Given the description of an element on the screen output the (x, y) to click on. 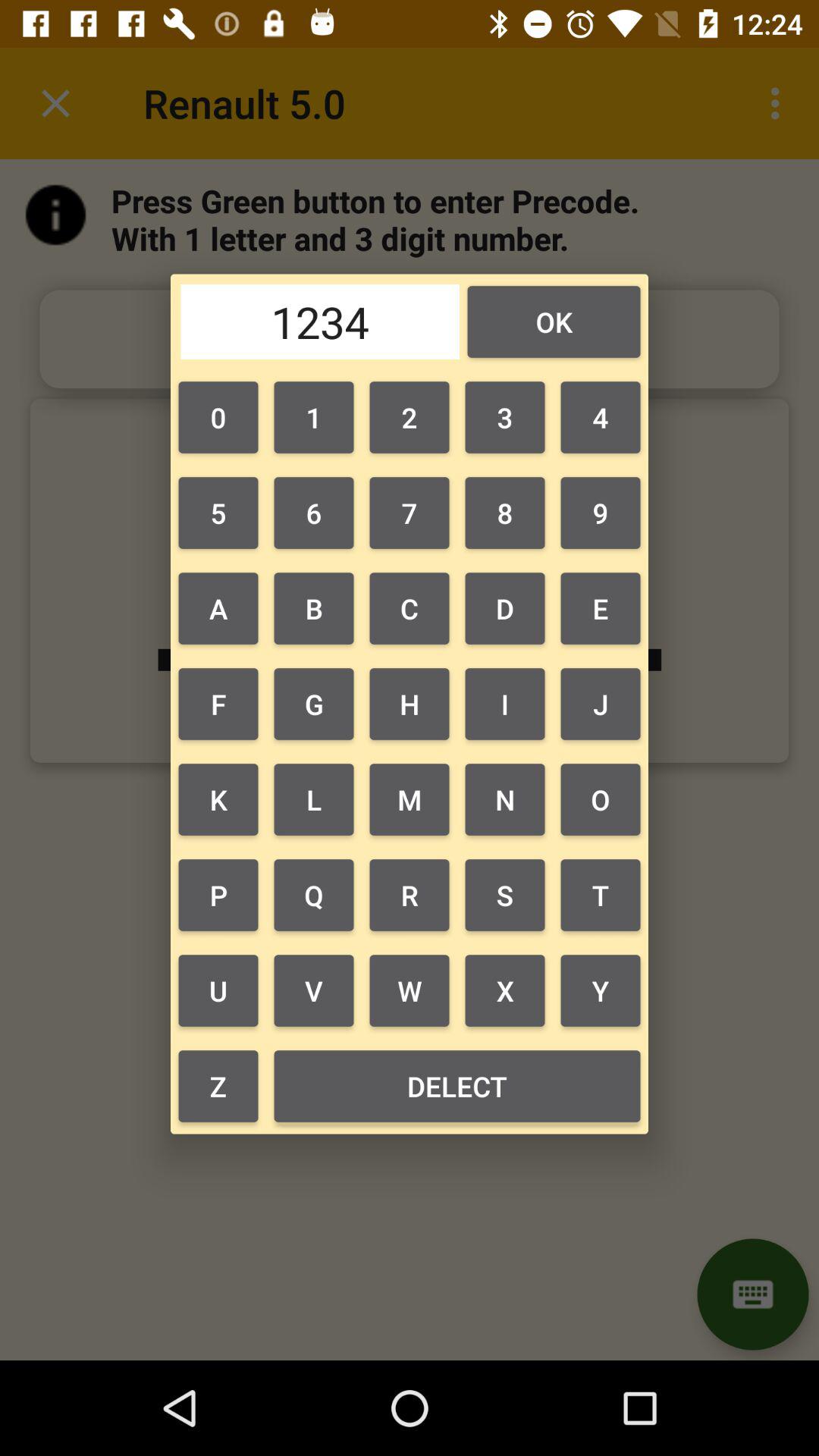
press the button below the 0 icon (313, 512)
